Given the description of an element on the screen output the (x, y) to click on. 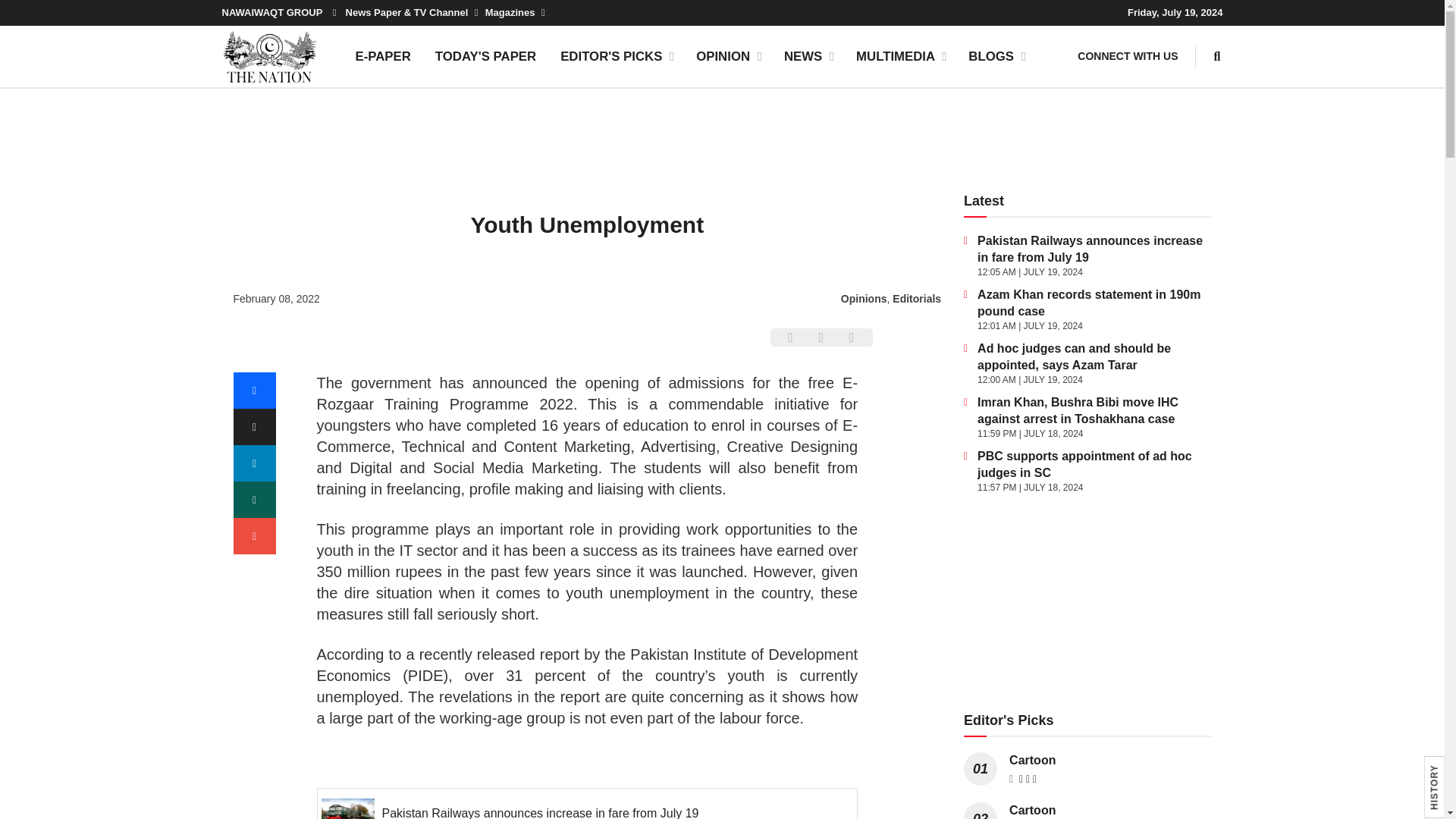
NEWS (807, 55)
Magazines (513, 12)
EDITOR'S PICKS (616, 55)
MULTIMEDIA (900, 55)
TODAY'S PAPER (485, 55)
OPINION (727, 55)
BLOGS (995, 55)
E-PAPER (382, 55)
